Given the description of an element on the screen output the (x, y) to click on. 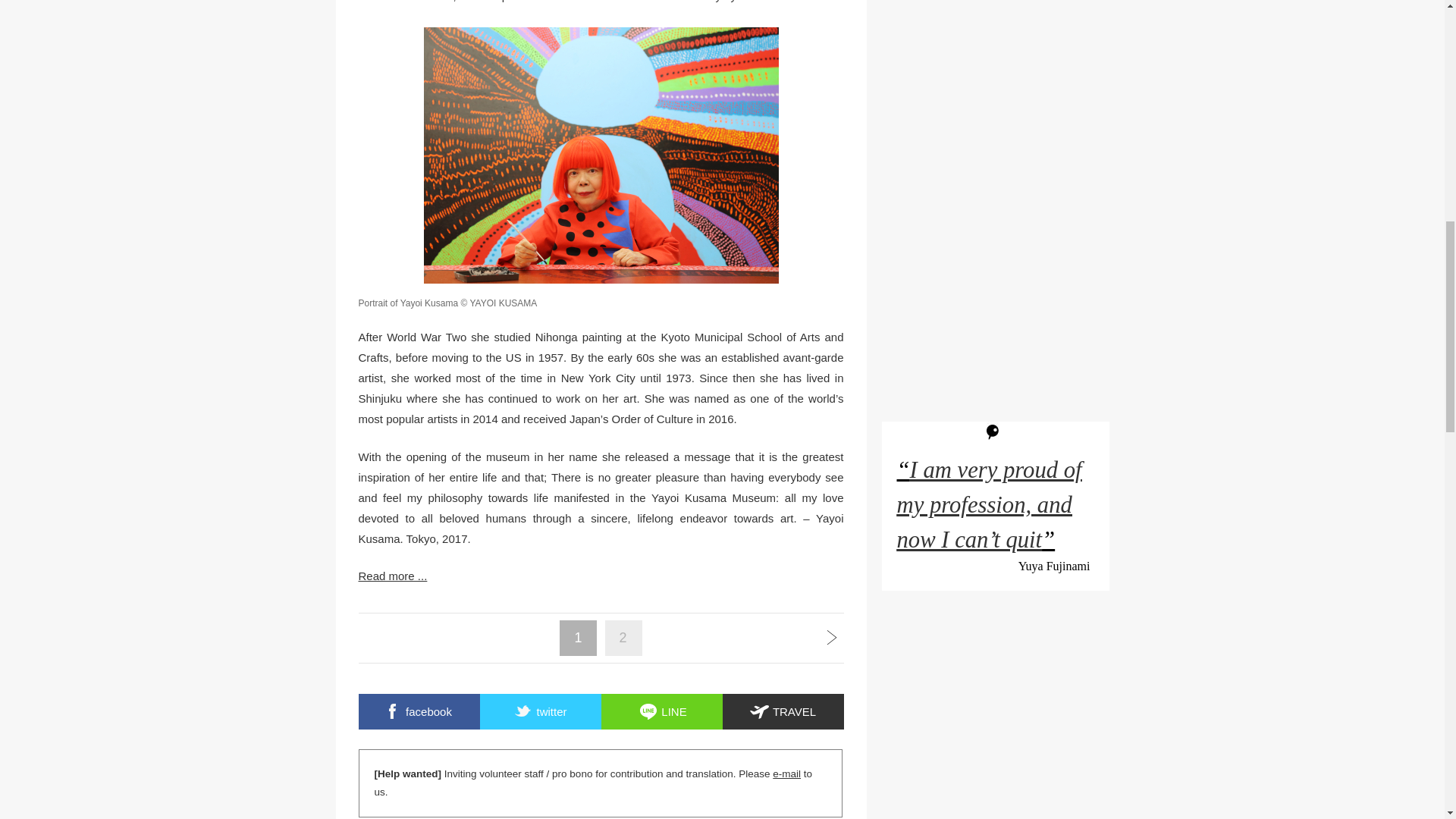
LINE (660, 711)
e-mail (786, 773)
twitter (539, 711)
Read more ... (600, 575)
TRAVEL (782, 711)
2 (623, 637)
facebook (418, 711)
See Article of Yuya Fujinami (988, 504)
